Given the description of an element on the screen output the (x, y) to click on. 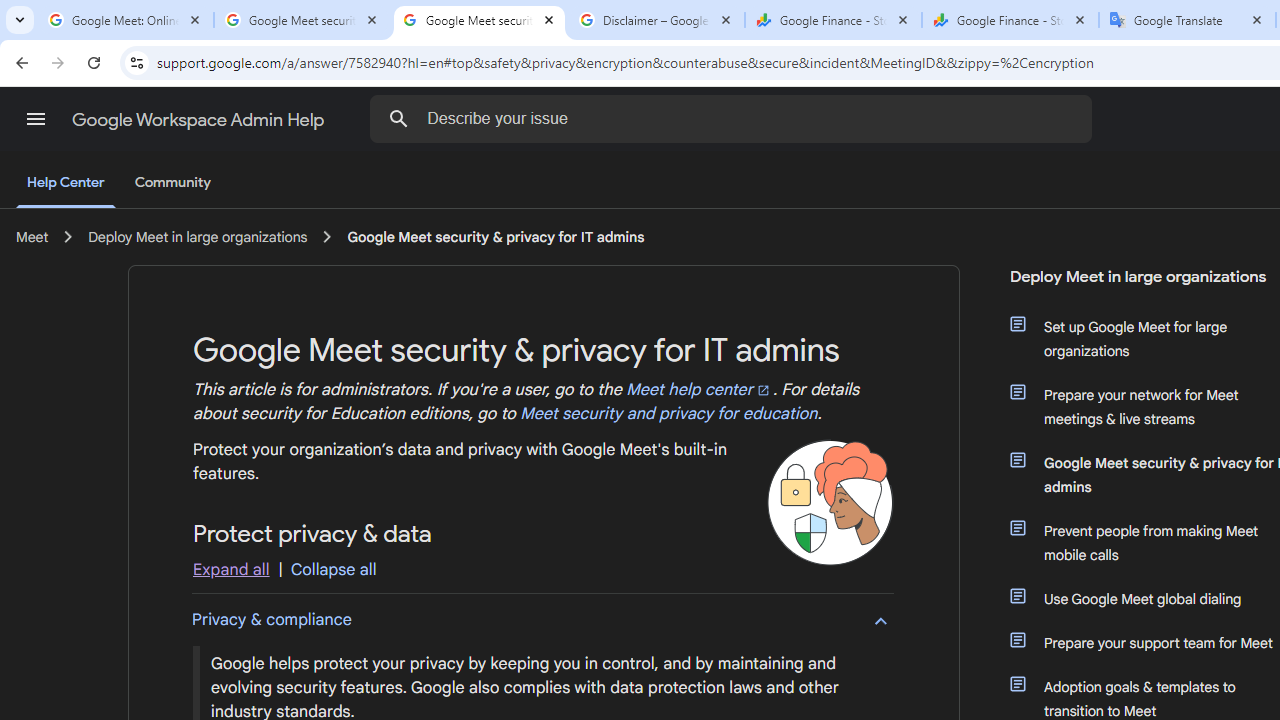
Meet help center (699, 390)
Google Meet security & privacy for IT admins (495, 237)
Help Center (65, 183)
Describe your issue (735, 118)
Community (171, 183)
Main menu (35, 119)
Google Workspace Admin Help (199, 119)
